Given the description of an element on the screen output the (x, y) to click on. 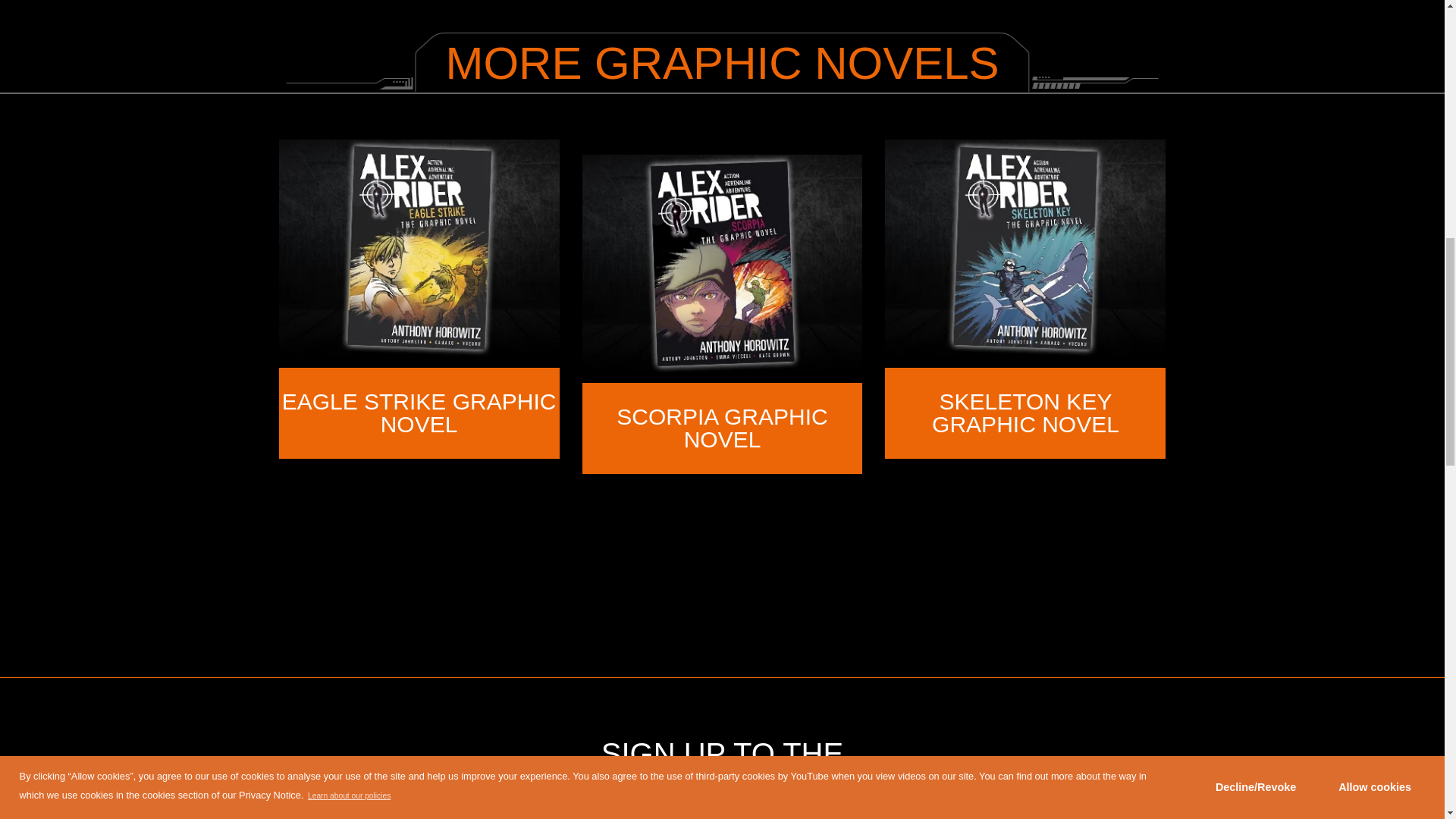
Scorpia Graphic Novel (721, 428)
EAGLE STRIKE GRAPHIC NOVEL (419, 412)
Eagle Strike Graphic Novel (419, 252)
Skeleton Key Graphic Novel (1025, 412)
SKELETON KEY GRAPHIC NOVEL (1025, 412)
SCORPIA GRAPHIC NOVEL (721, 428)
Eagle Strike Graphic Novel (419, 412)
Scorpia Graphic Novel (722, 267)
Skeleton Key Graphic Novel (1025, 252)
